Given the description of an element on the screen output the (x, y) to click on. 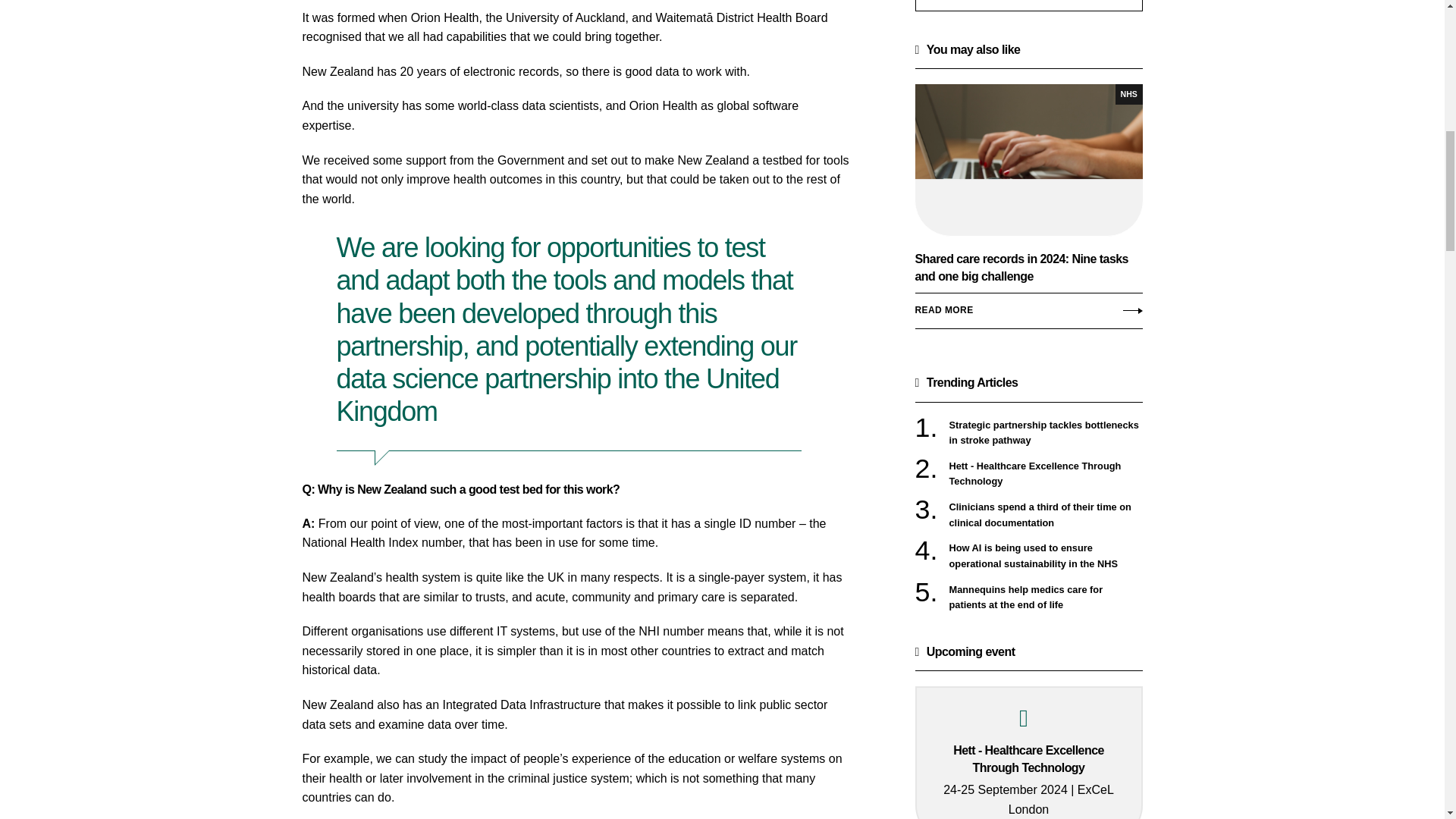
Hett - Healthcare Excellence Through Technology (1045, 473)
Mannequins help medics care for patients at the end of life (1045, 597)
Strategic partnership tackles bottlenecks in stroke pathway (1045, 432)
NHS (1128, 94)
